Given the description of an element on the screen output the (x, y) to click on. 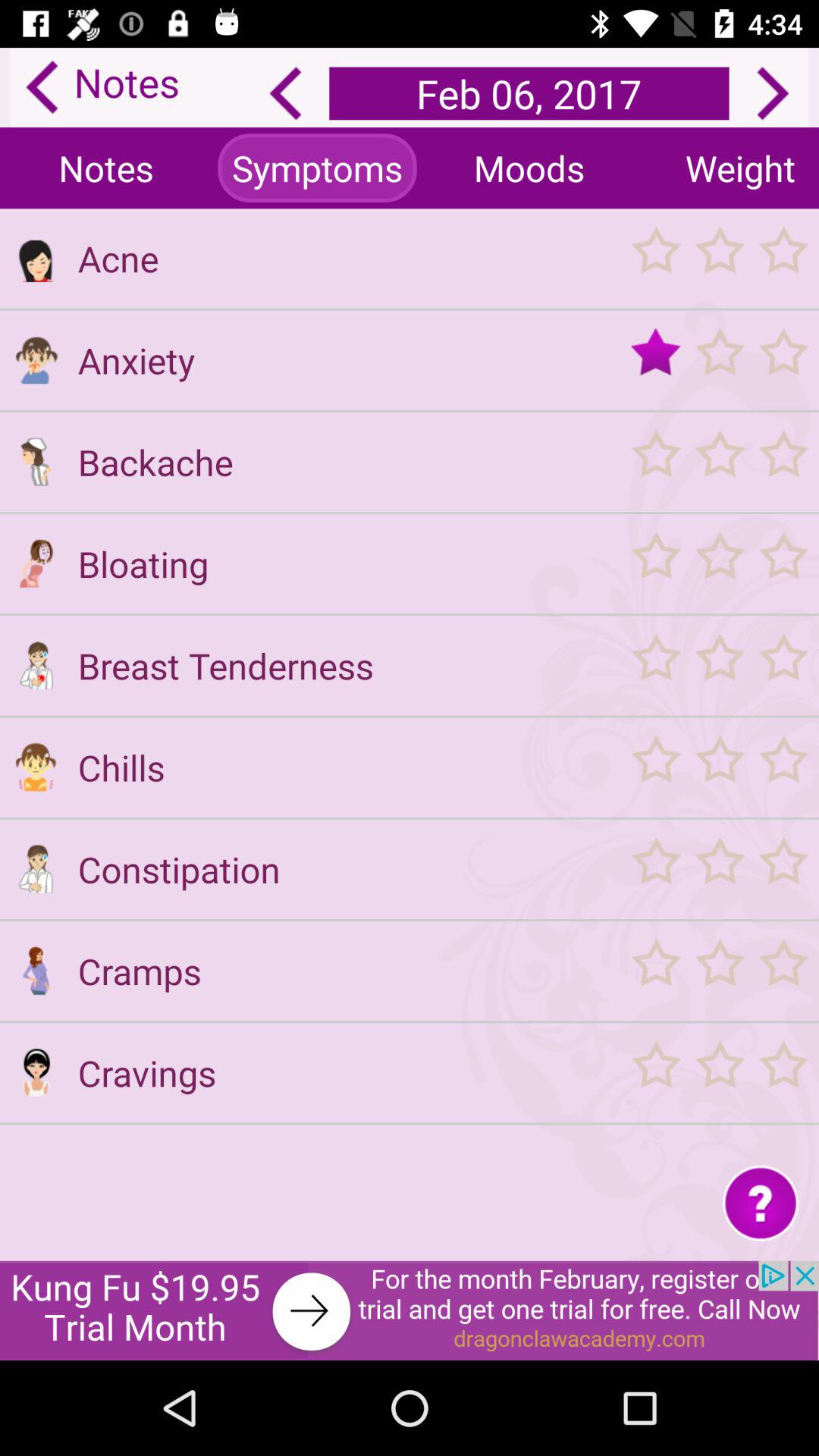
add in the apps (35, 1143)
